Given the description of an element on the screen output the (x, y) to click on. 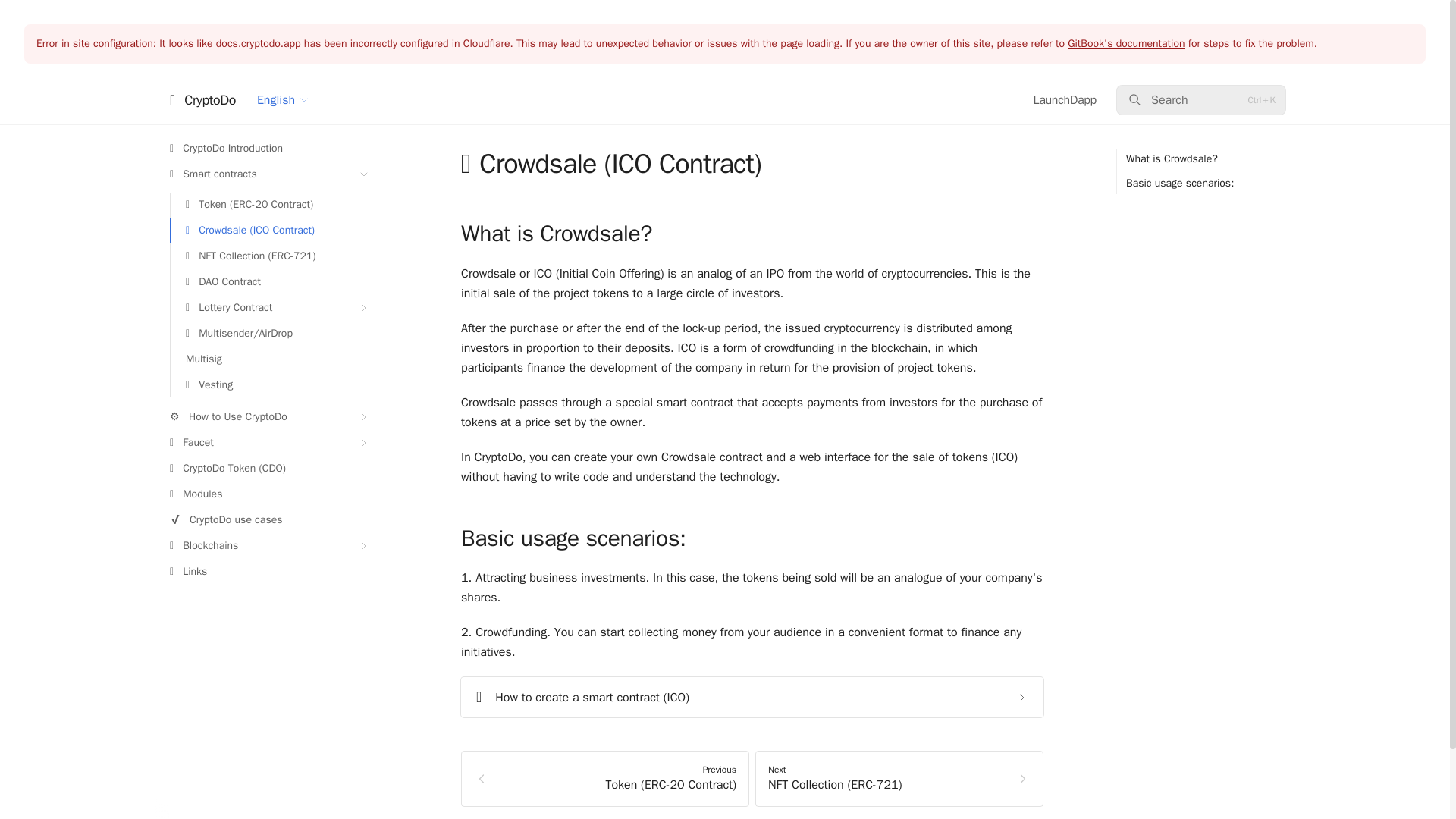
GitBook's documentation (1126, 42)
LaunchDapp (1064, 100)
Multisig (272, 359)
